Given the description of an element on the screen output the (x, y) to click on. 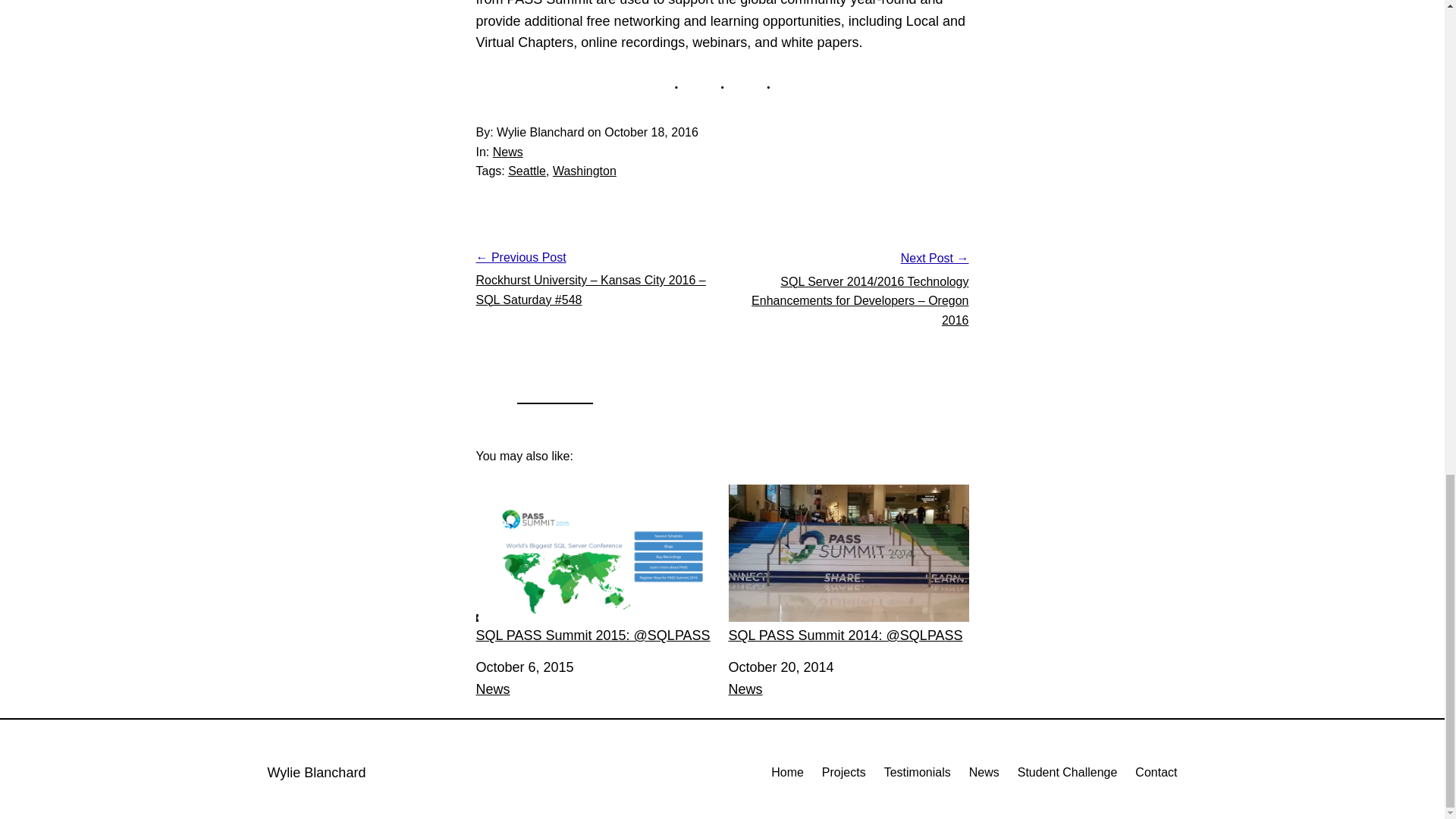
Washington (584, 170)
News (983, 772)
Seattle (527, 170)
Testimonials (916, 772)
News (493, 688)
Contact (1155, 772)
News (744, 688)
News (507, 151)
Student Challenge (1067, 772)
Wylie Blanchard (315, 772)
